Given the description of an element on the screen output the (x, y) to click on. 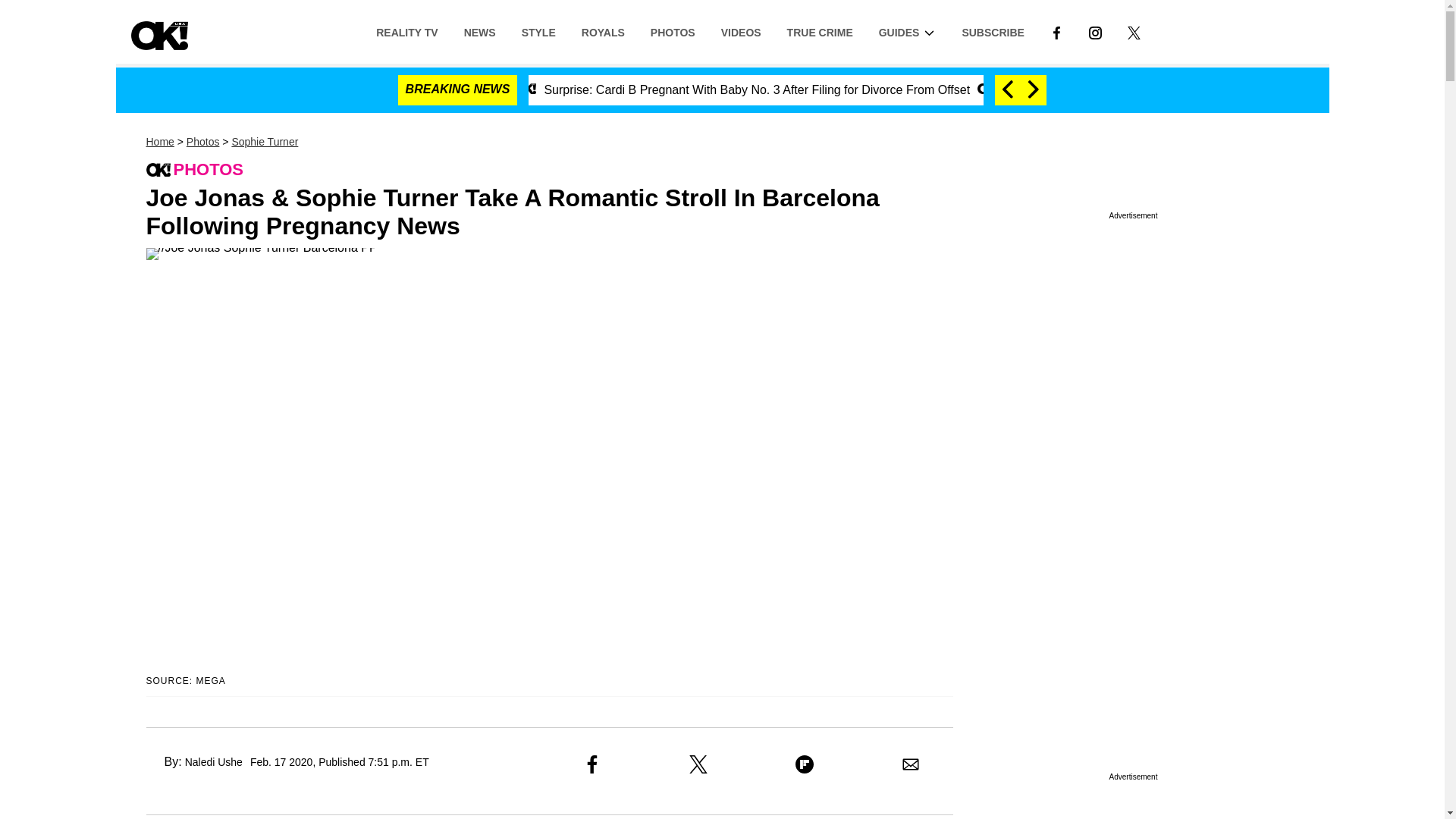
NEWS (479, 31)
Link to Instagram (1095, 31)
REALITY TV (405, 31)
LINK TO FACEBOOK (1055, 32)
Share to Flipboard (803, 764)
SUBSCRIBE (992, 31)
Share to X (697, 764)
STYLE (538, 31)
Link to Facebook (1055, 31)
Share to Email (909, 764)
PHOTOS (672, 31)
LINK TO INSTAGRAM (1095, 31)
LINK TO X (1134, 31)
TRUE CRIME (820, 31)
